Given the description of an element on the screen output the (x, y) to click on. 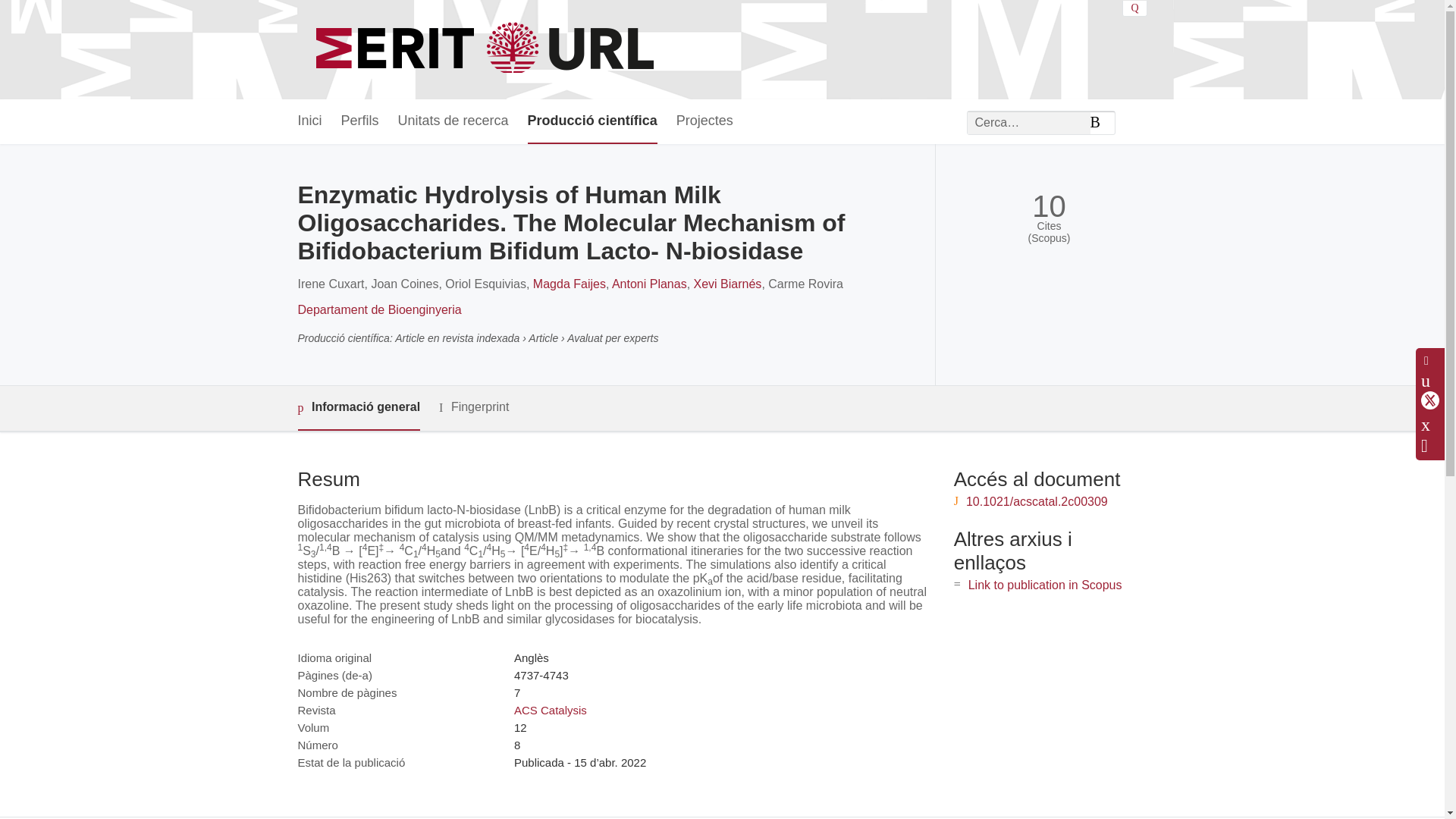
Inici (309, 121)
Projectes (705, 121)
Universitat Ramon Llull Inici (487, 49)
Departament de Bioenginyeria (379, 309)
ACS Catalysis (549, 709)
Magda Faijes (568, 283)
Fingerprint (473, 407)
Unitats de recerca (452, 121)
Antoni Planas (649, 283)
Perfils (359, 121)
Link to publication in Scopus (1045, 584)
